Given the description of an element on the screen output the (x, y) to click on. 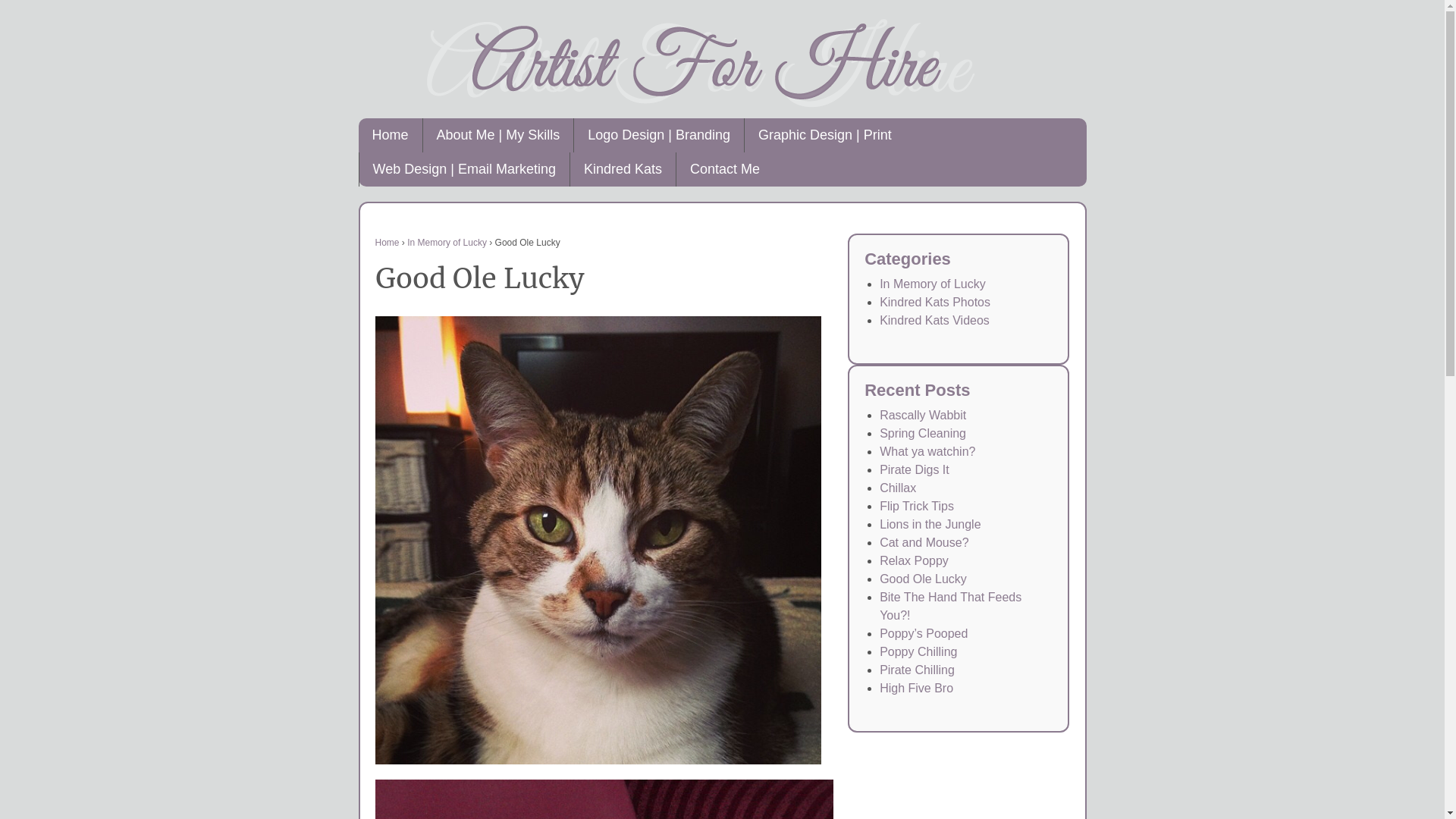
Lions in the Jungle Element type: text (929, 523)
Pirate Digs It Element type: text (914, 469)
Good Ole Lucky Element type: text (922, 578)
Web Design | Email Marketing Element type: text (462, 169)
Kindred Kats Photos Element type: text (934, 301)
Flip Trick Tips Element type: text (916, 505)
Cat and Mouse? Element type: text (923, 542)
Chillax Element type: text (897, 487)
Graphic Design | Print Element type: text (824, 135)
Poppy Chilling Element type: text (918, 651)
Contact Me Element type: text (724, 169)
Kindred Kats Element type: text (622, 169)
What ya watchin? Element type: text (927, 451)
Spring Cleaning Element type: text (922, 432)
Logo Design | Branding Element type: text (658, 135)
About Me | My Skills Element type: text (498, 135)
Kindred Kats Videos Element type: text (934, 319)
In Memory of Lucky Element type: text (932, 283)
In Memory of Lucky Element type: text (446, 242)
Rascally Wabbit Element type: text (922, 414)
High Five Bro Element type: text (916, 687)
Home Element type: text (386, 242)
Bite The Hand That Feeds You?! Element type: text (950, 605)
Relax Poppy Element type: text (913, 560)
Home Element type: text (389, 135)
Pirate Chilling Element type: text (916, 669)
